Given the description of an element on the screen output the (x, y) to click on. 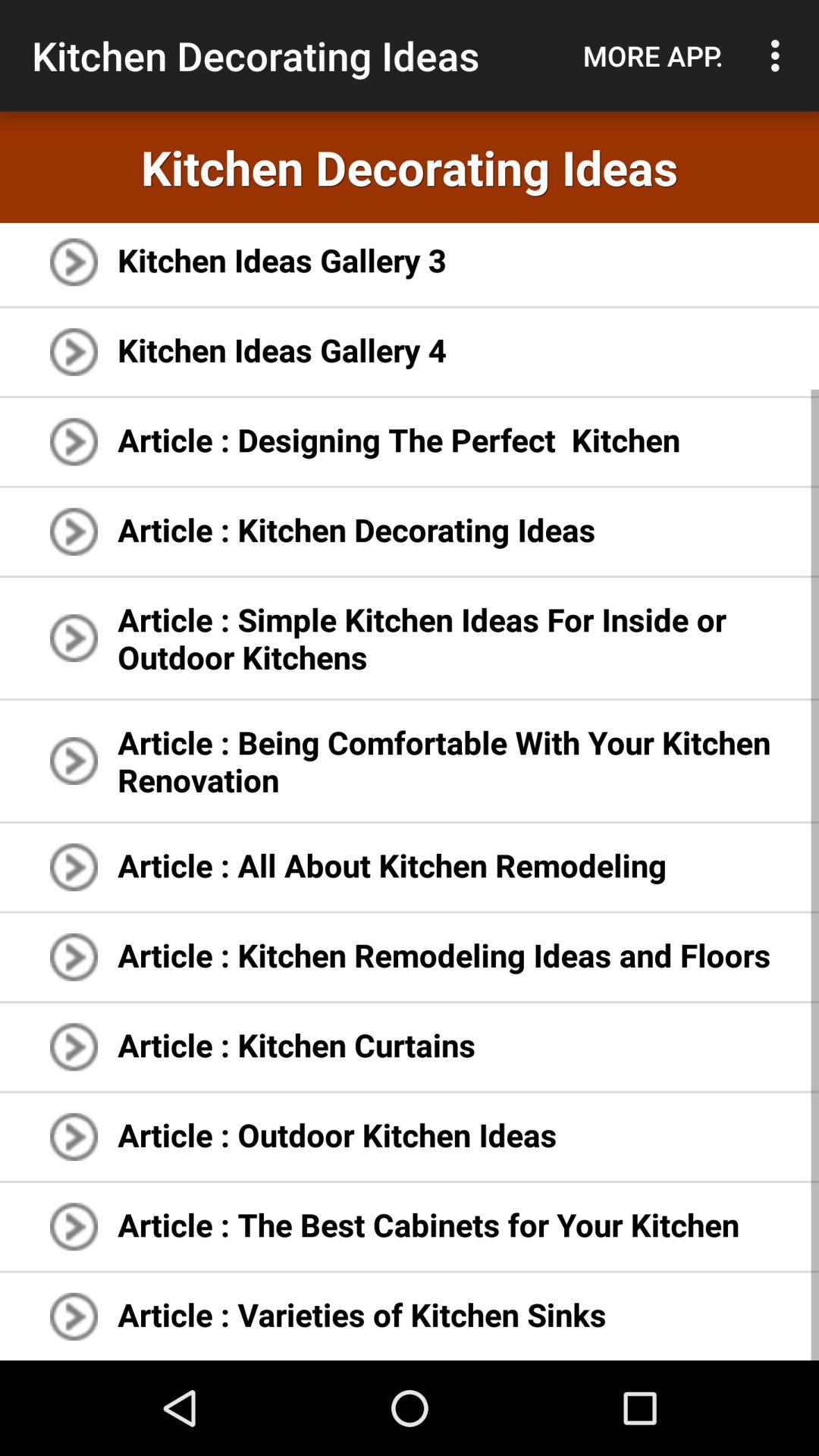
turn on app to the right of kitchen decorating ideas icon (653, 55)
